Given the description of an element on the screen output the (x, y) to click on. 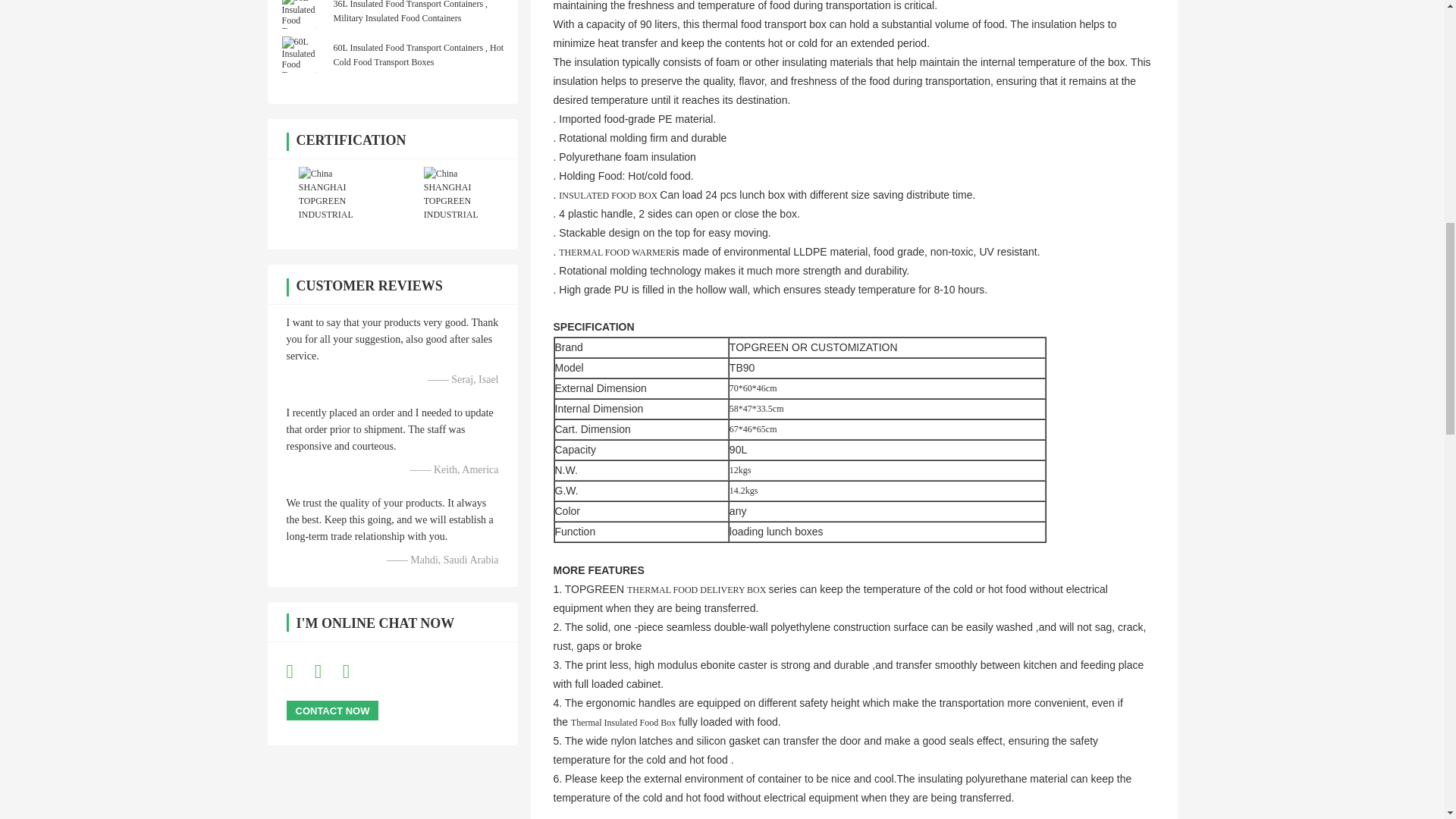
Contact Now (332, 710)
